Given the description of an element on the screen output the (x, y) to click on. 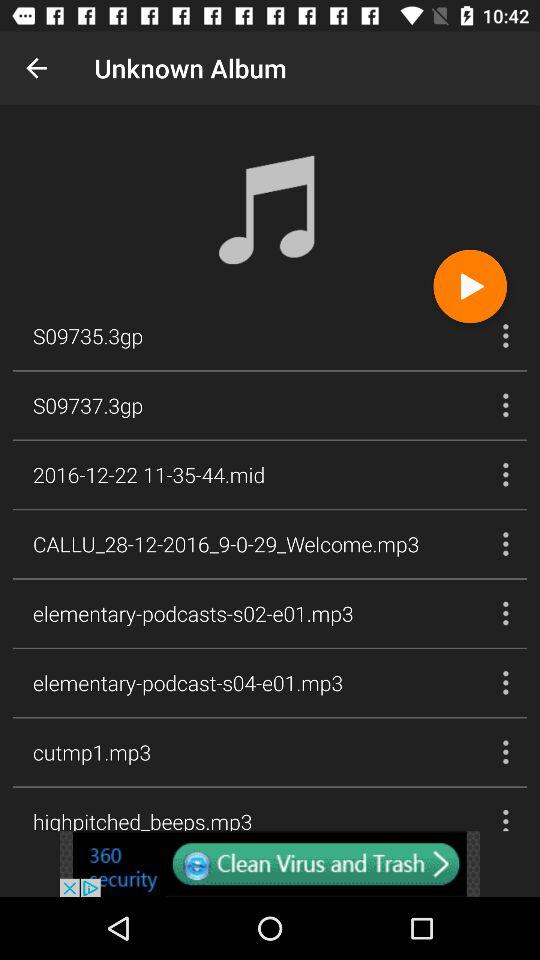
clean virus and trash button (270, 864)
